Given the description of an element on the screen output the (x, y) to click on. 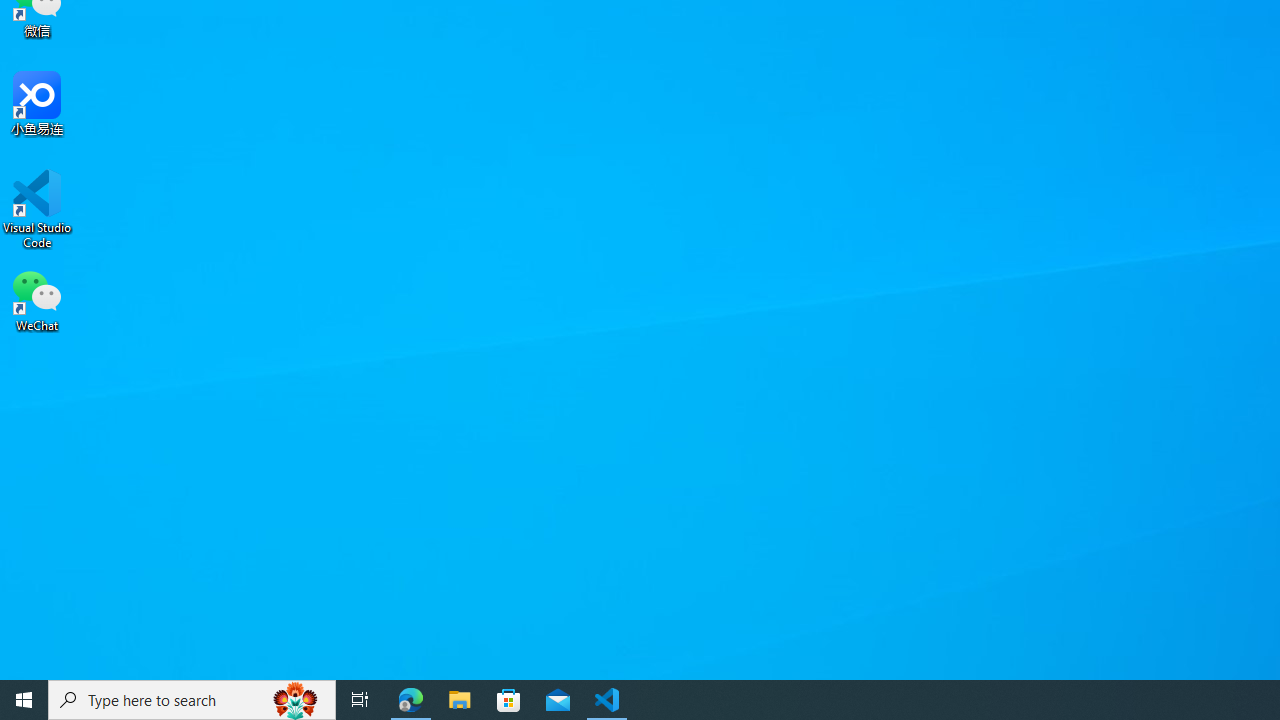
Visual Studio Code (37, 209)
WeChat (37, 299)
